Given the description of an element on the screen output the (x, y) to click on. 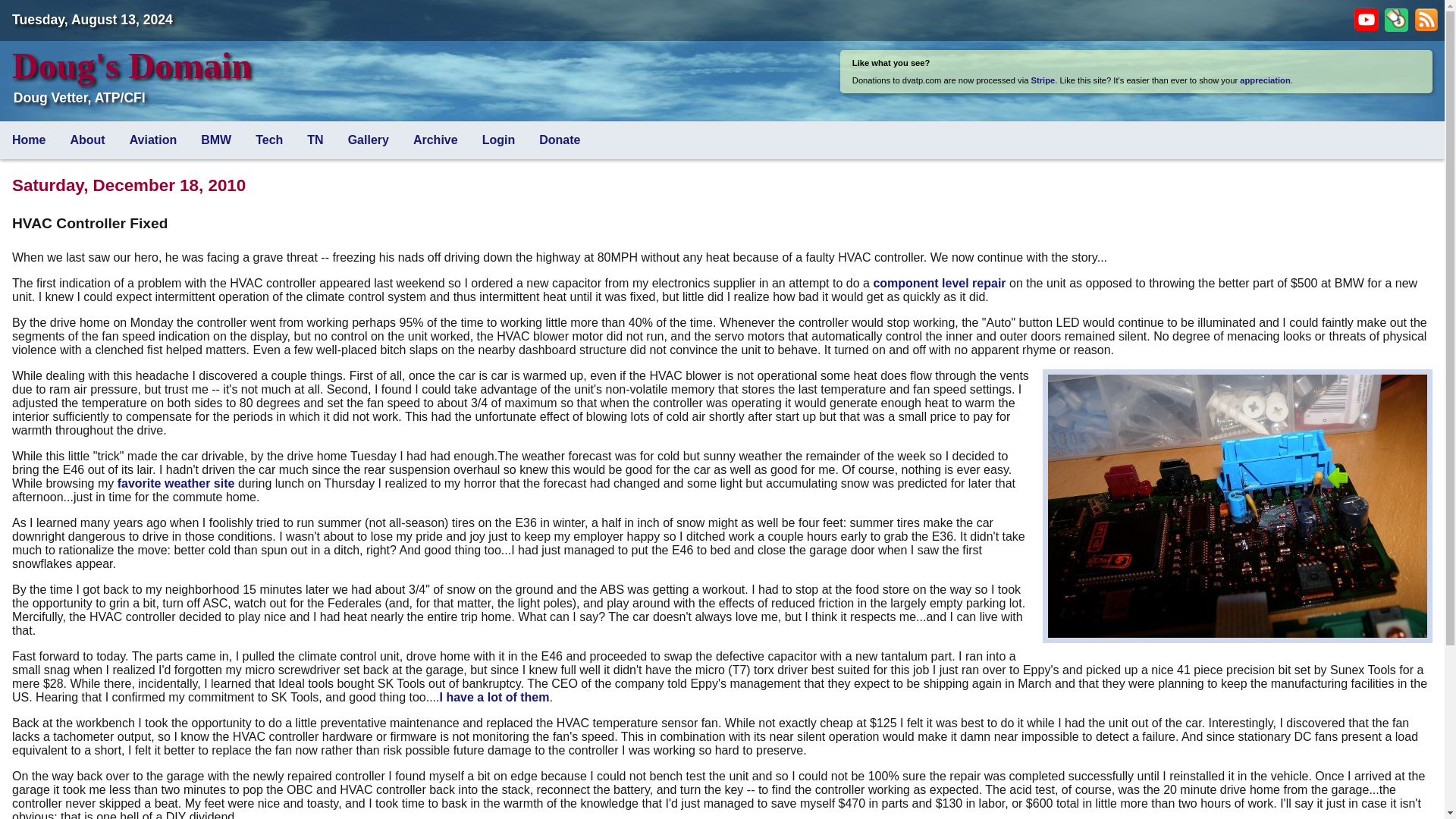
appreciation (1265, 80)
About (87, 140)
Login (498, 140)
Aviation (153, 140)
favorite weather site (175, 482)
Gallery (368, 140)
BMW (216, 140)
Home (27, 140)
Archive (435, 140)
component level repair (939, 282)
